Given the description of an element on the screen output the (x, y) to click on. 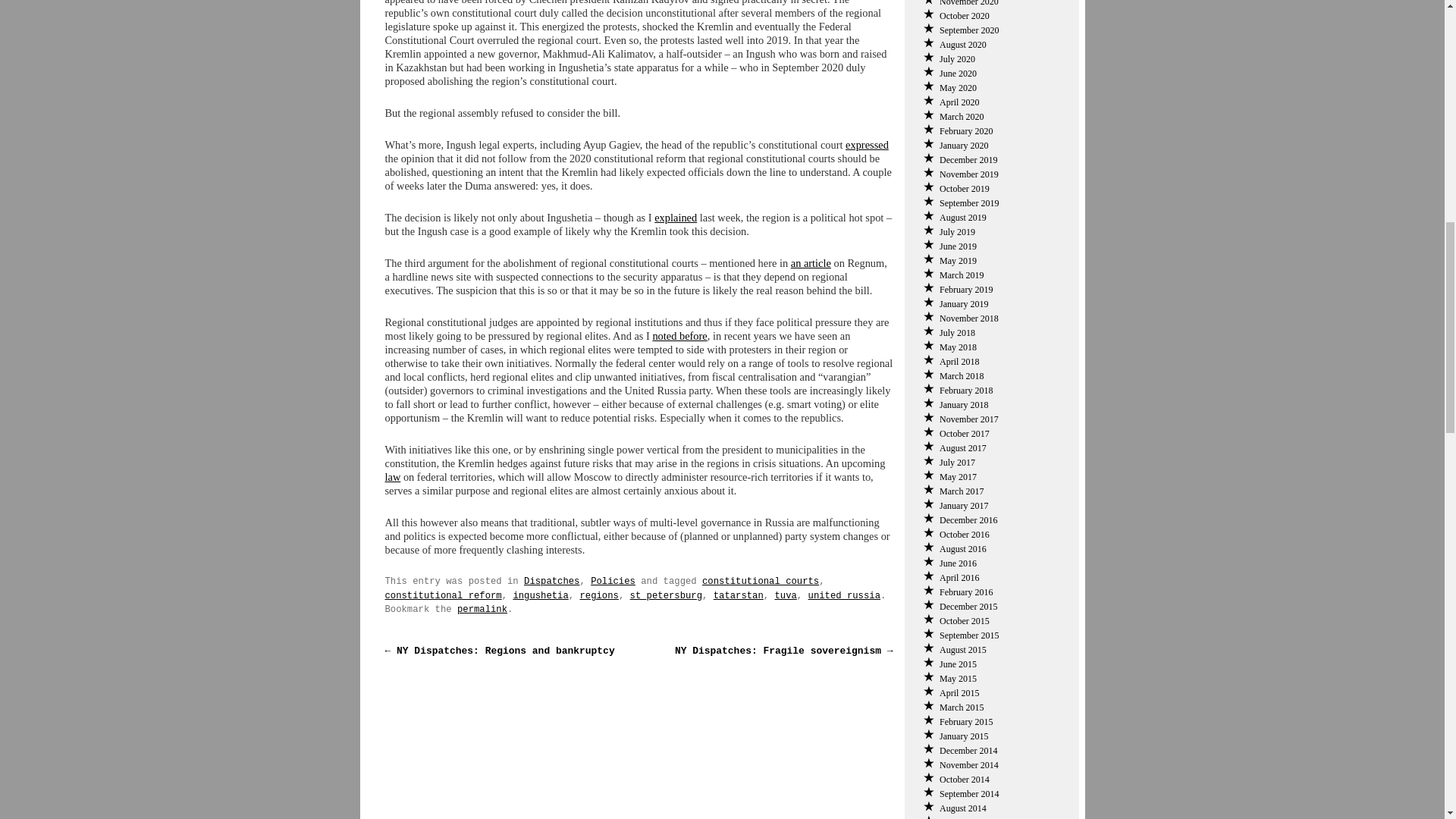
Policies (612, 581)
ingushetia (539, 595)
explained (675, 217)
expressed (866, 144)
Dispatches (551, 581)
noted before (679, 336)
Permalink to NY Dispatches: Regional constitutional courts (481, 609)
tatarstan (737, 595)
an article (810, 263)
law (393, 476)
